Given the description of an element on the screen output the (x, y) to click on. 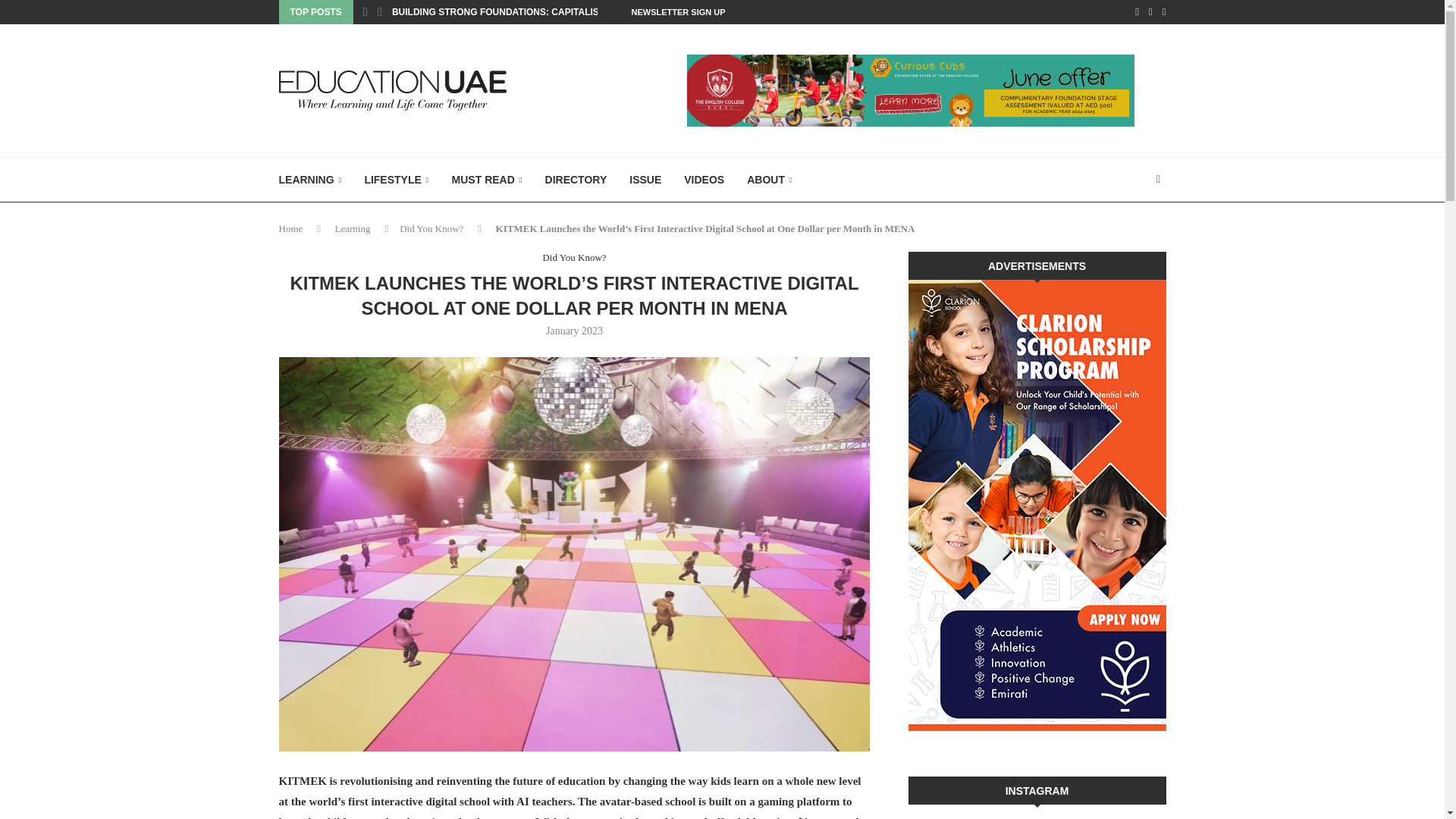
LEARNING (310, 180)
LIFESTYLE (396, 180)
NEWSLETTER SIGN UP (678, 12)
